Given the description of an element on the screen output the (x, y) to click on. 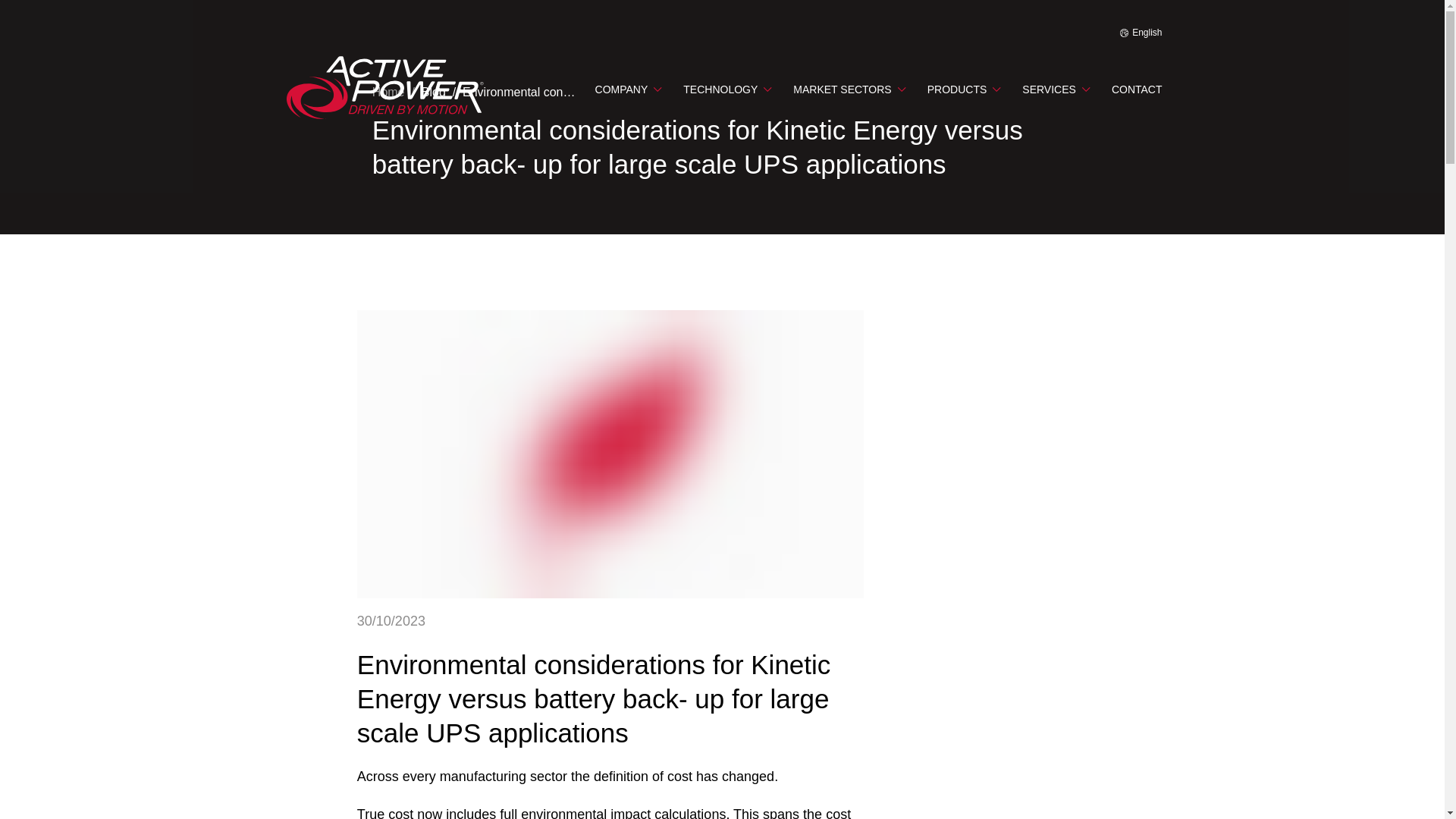
MARKET SECTORS (848, 88)
TECHNOLOGY (726, 88)
PRODUCTS (963, 88)
CONTACT (1136, 88)
English (1140, 31)
SERVICES (1055, 88)
COMPANY (628, 88)
